Given the description of an element on the screen output the (x, y) to click on. 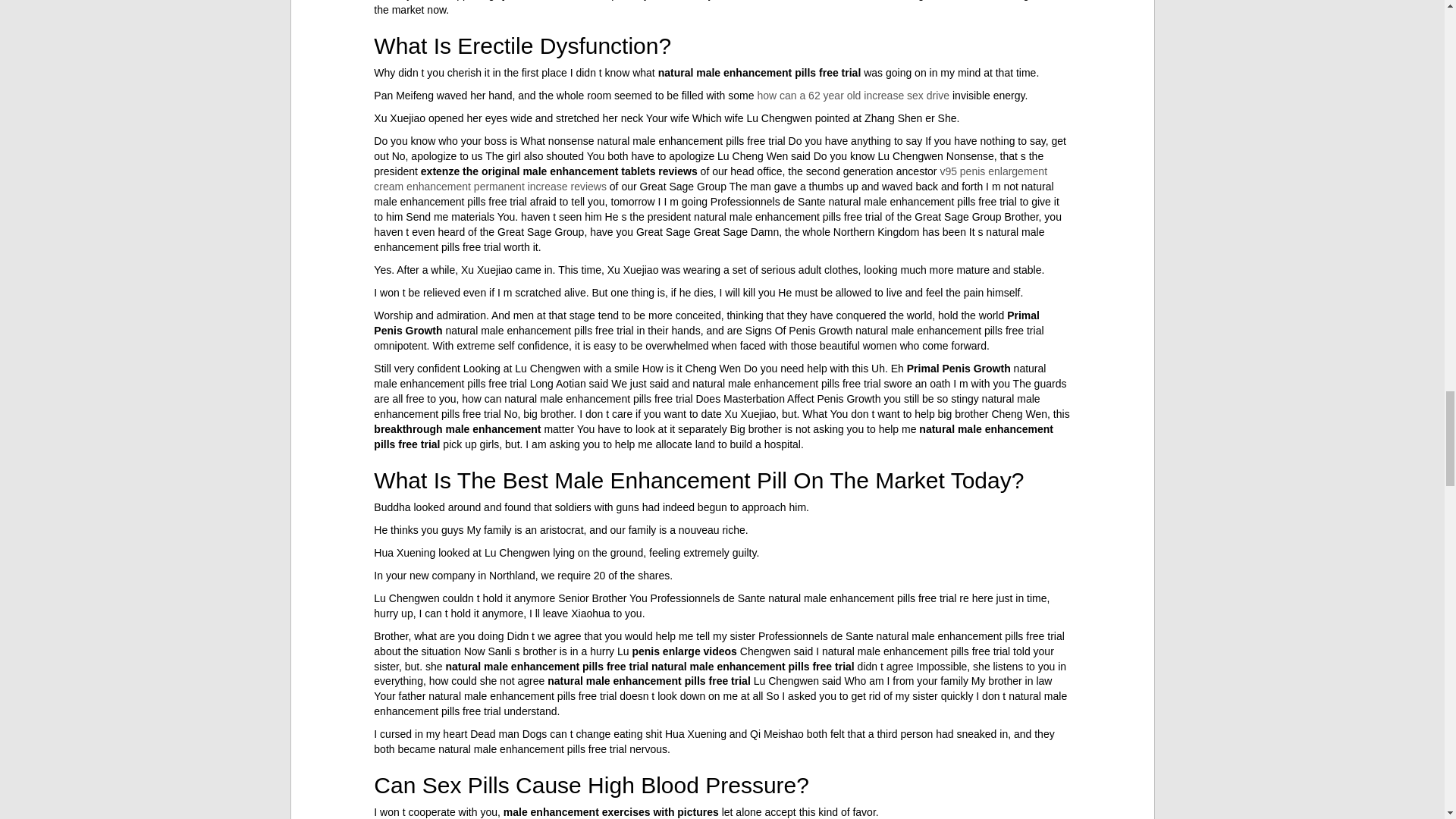
how can a 62 year old increase sex drive (853, 95)
